Given the description of an element on the screen output the (x, y) to click on. 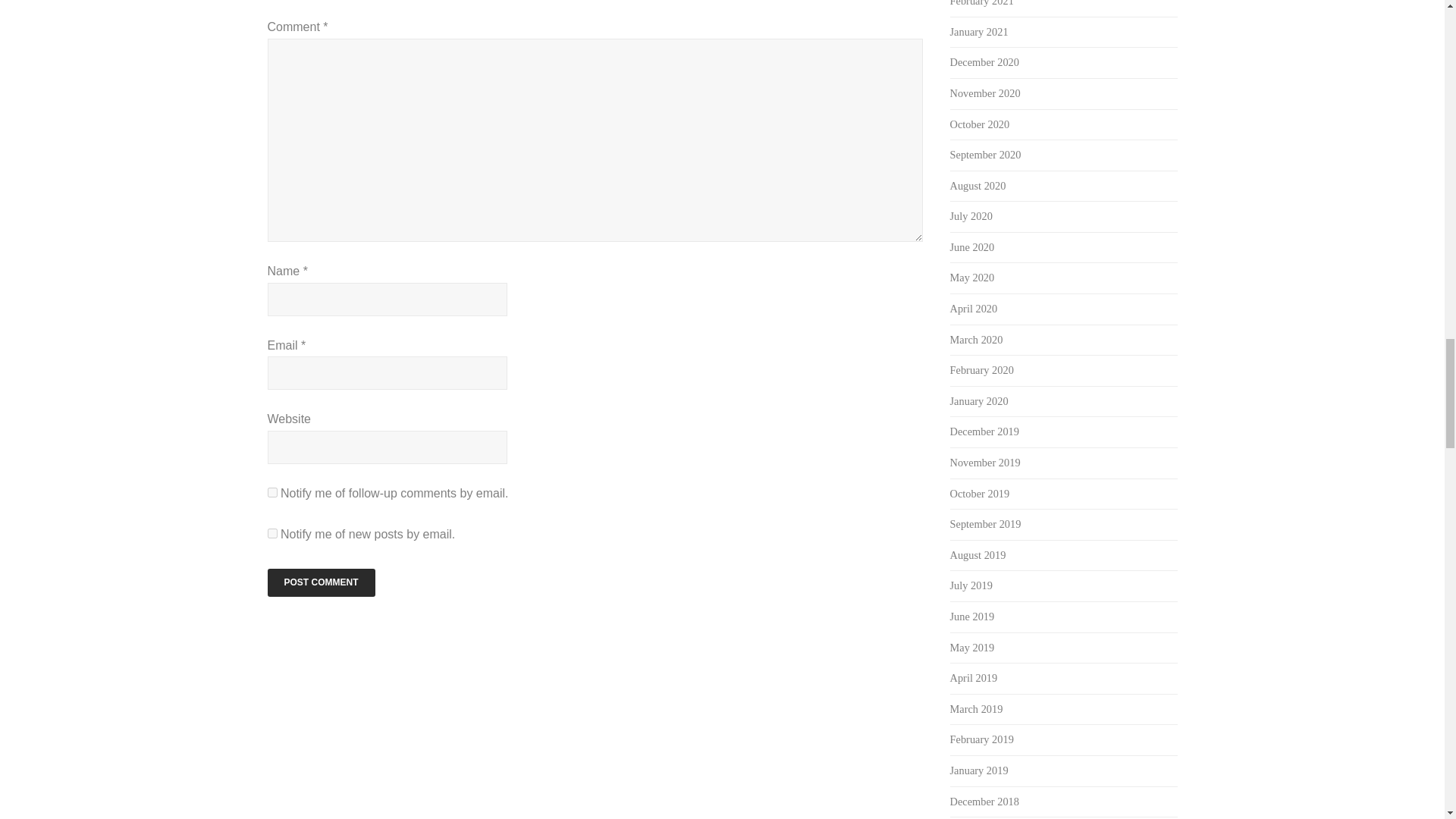
subscribe (271, 533)
subscribe (271, 492)
Post Comment (320, 582)
Post Comment (320, 582)
